Given the description of an element on the screen output the (x, y) to click on. 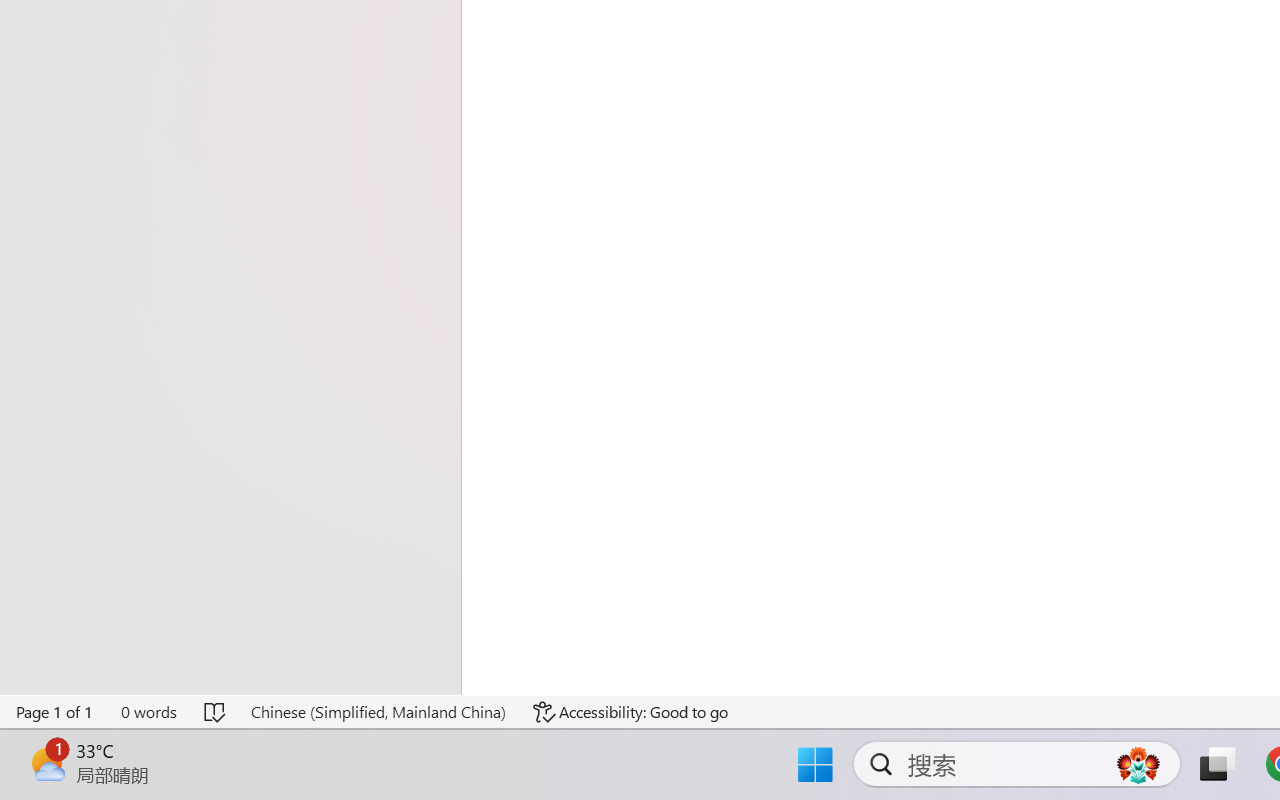
Language Chinese (Simplified, Mainland China) (378, 712)
